Given the description of an element on the screen output the (x, y) to click on. 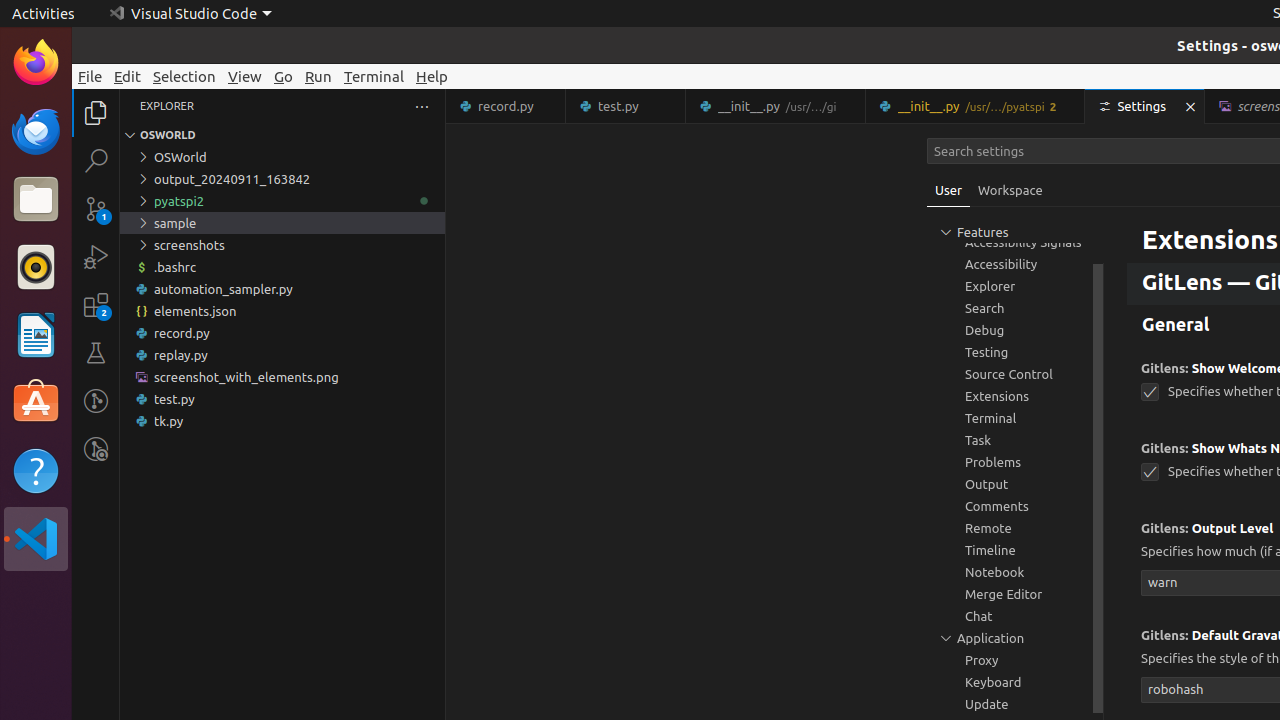
Testing, group Element type: tree-item (1015, 352)
Keyboard, group Element type: tree-item (1015, 682)
GitLens Inspect Element type: page-tab (96, 449)
File Element type: push-button (90, 76)
Testing Element type: page-tab (96, 353)
